Given the description of an element on the screen output the (x, y) to click on. 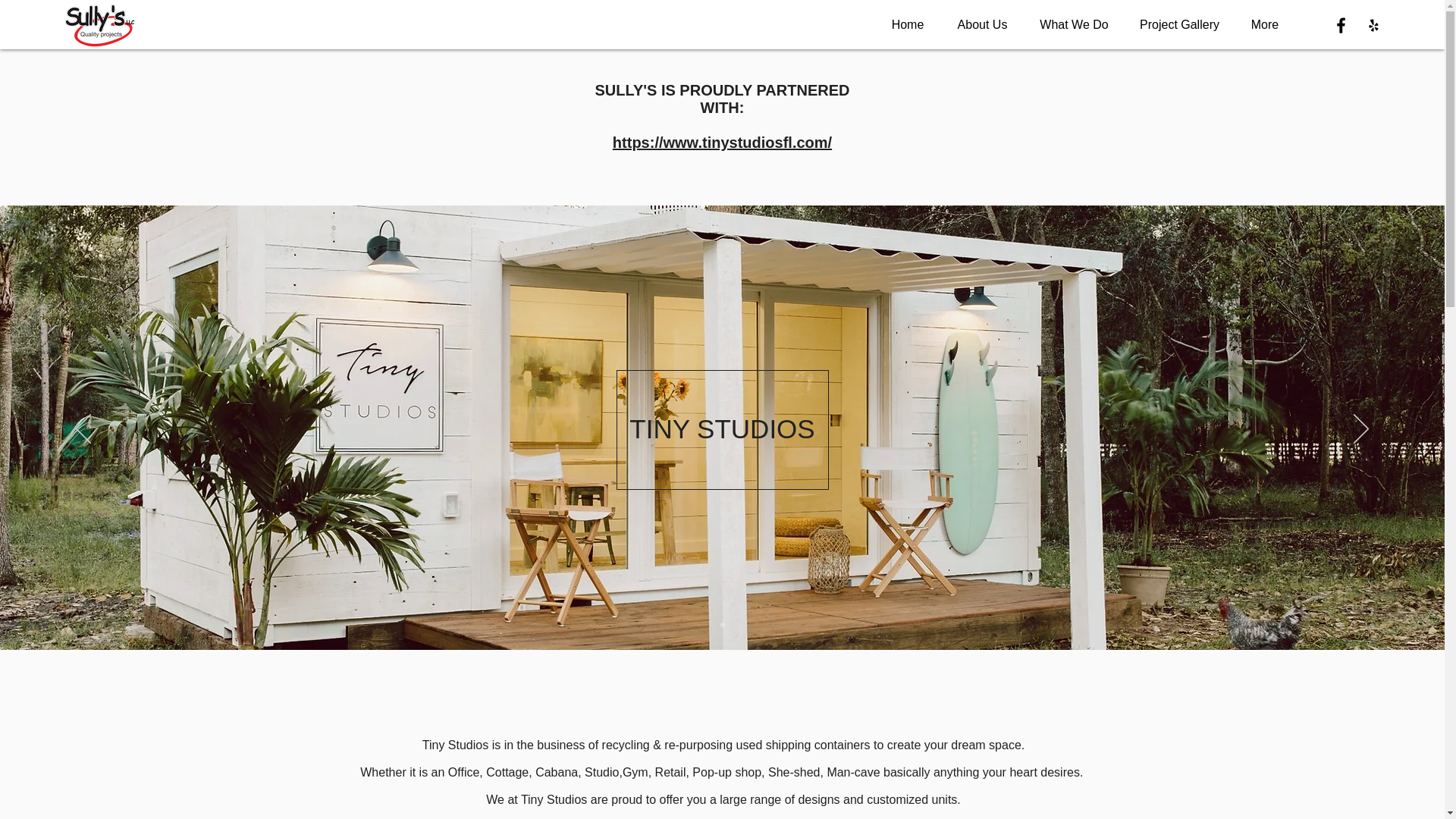
Home (907, 24)
What We Do (1073, 24)
Project Gallery (1179, 24)
About Us (981, 24)
